Given the description of an element on the screen output the (x, y) to click on. 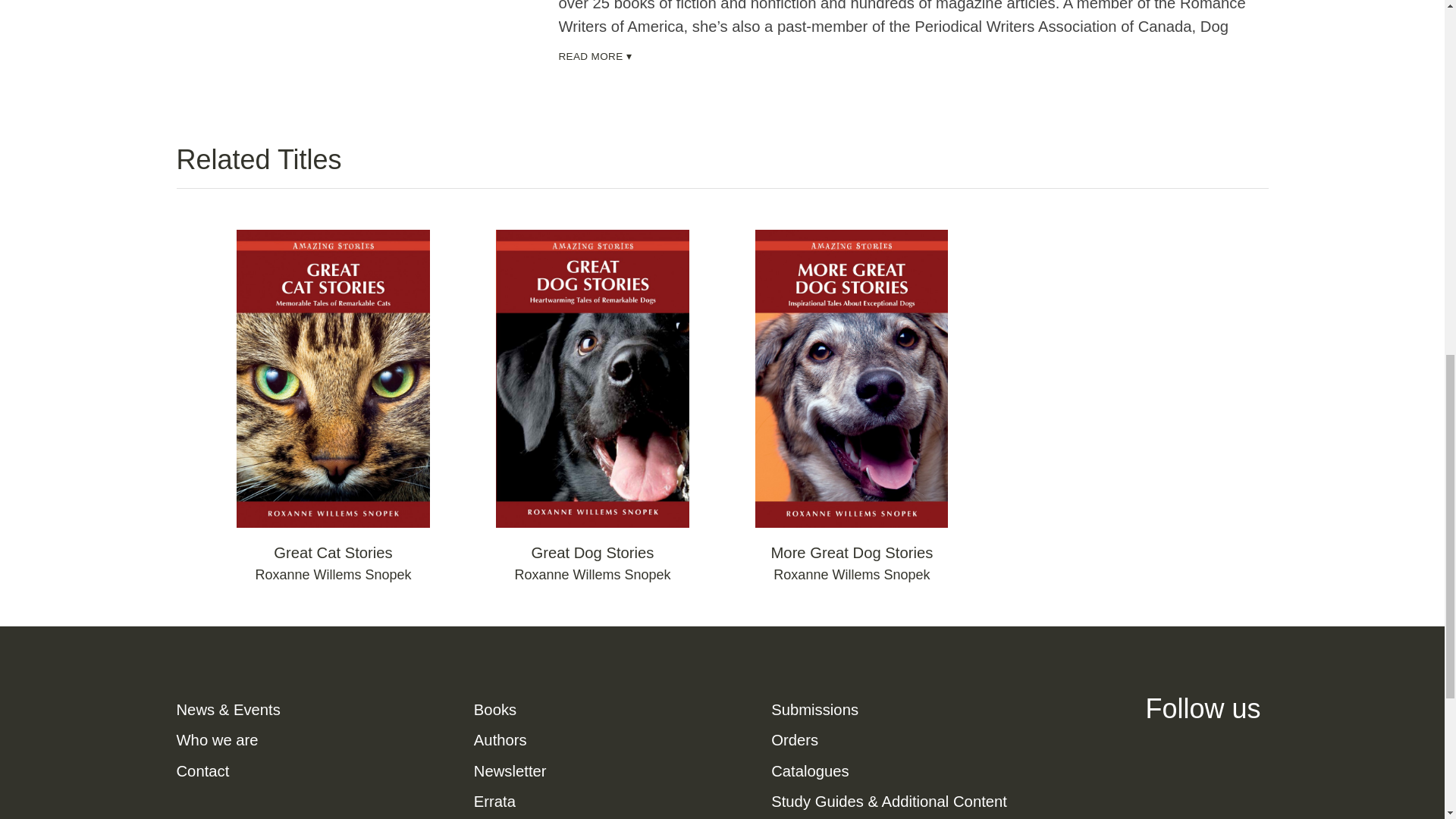
Contact (202, 770)
Books (495, 709)
Errata (494, 801)
Who we are (216, 740)
Authors (500, 740)
Submissions (815, 709)
Orders (794, 740)
Catalogues (809, 770)
Newsletter (510, 770)
